Given the description of an element on the screen output the (x, y) to click on. 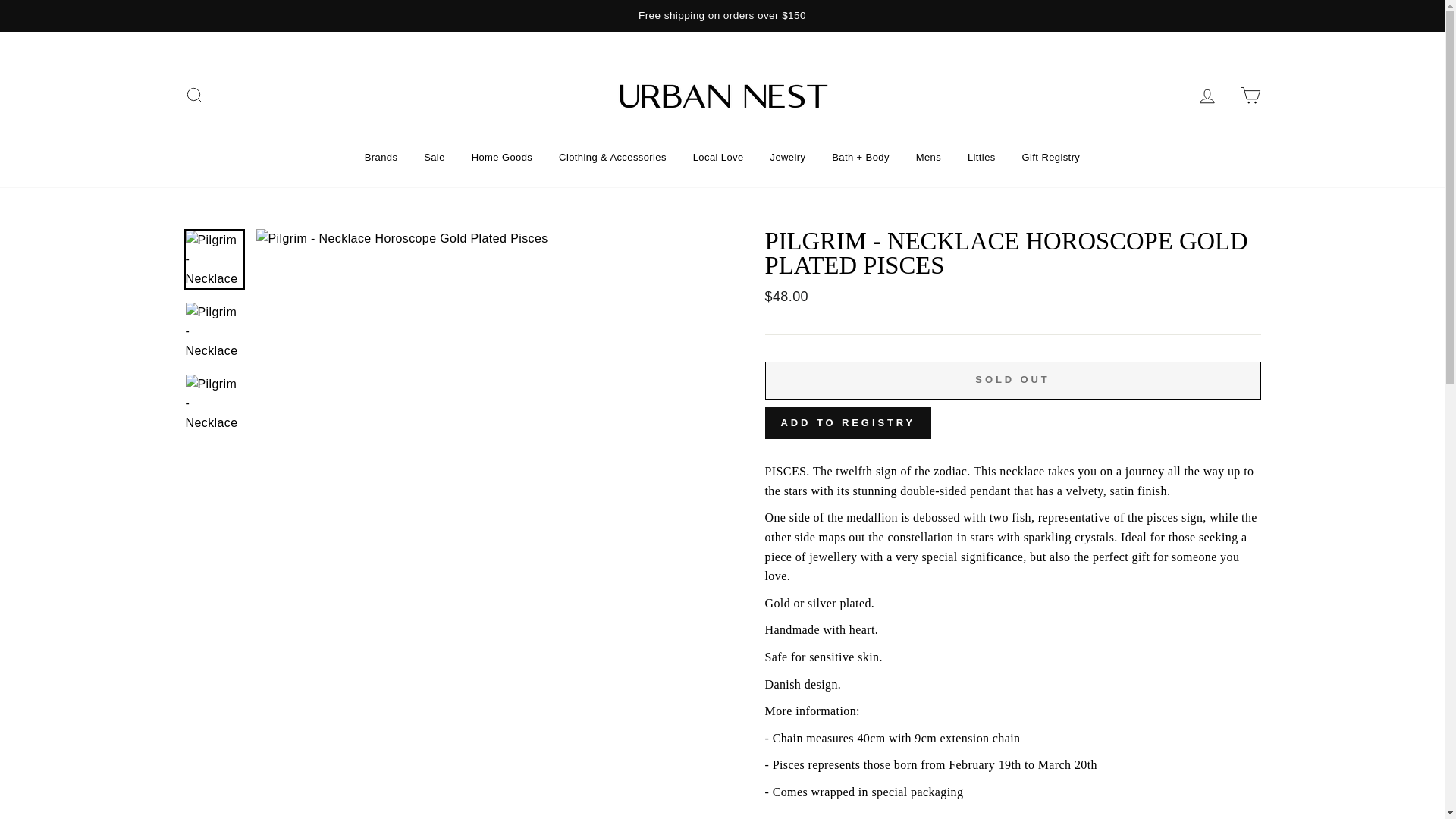
Add to Registry (847, 422)
